Given the description of an element on the screen output the (x, y) to click on. 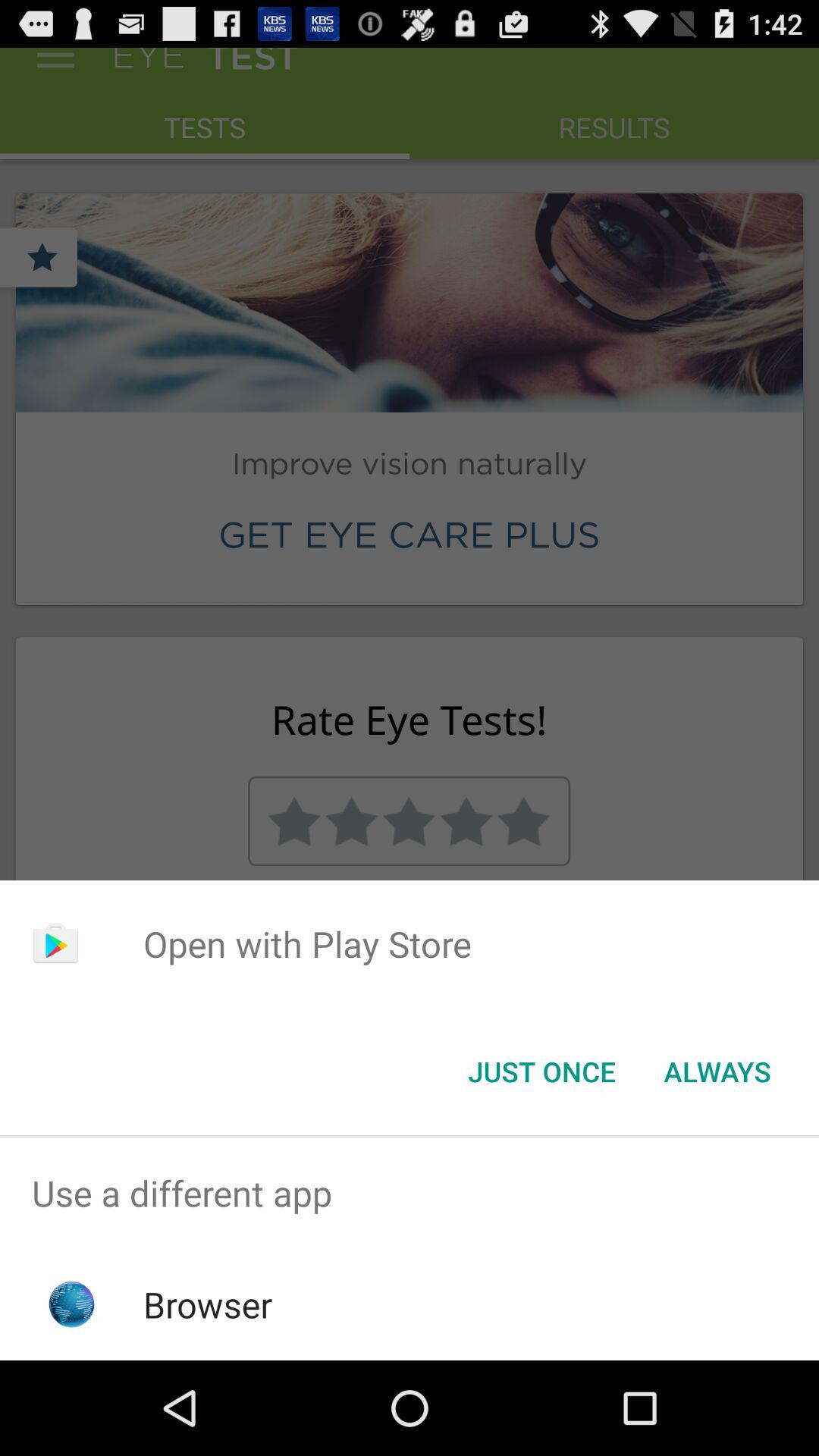
scroll until the browser icon (207, 1304)
